Given the description of an element on the screen output the (x, y) to click on. 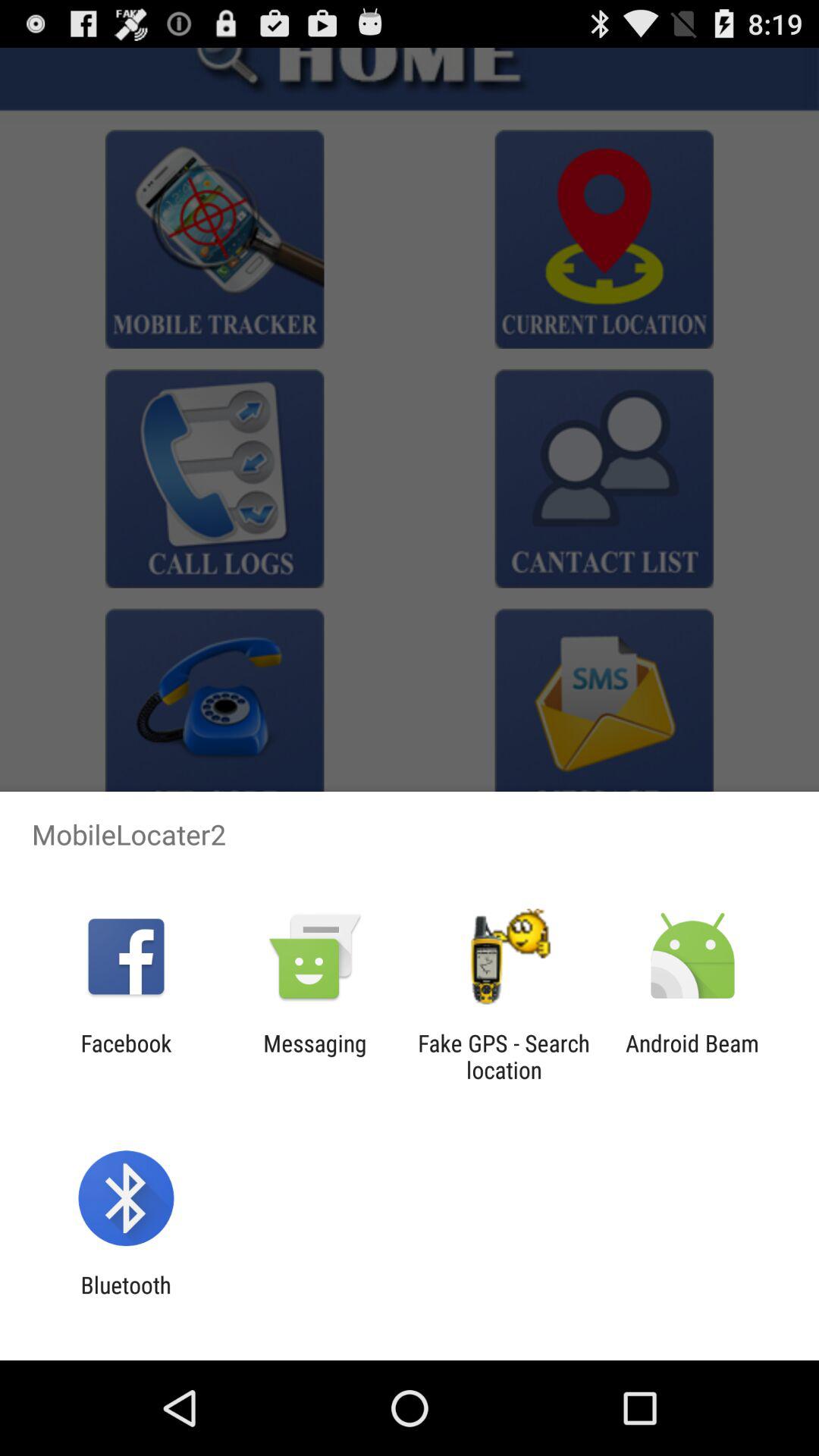
turn off messaging app (314, 1056)
